Given the description of an element on the screen output the (x, y) to click on. 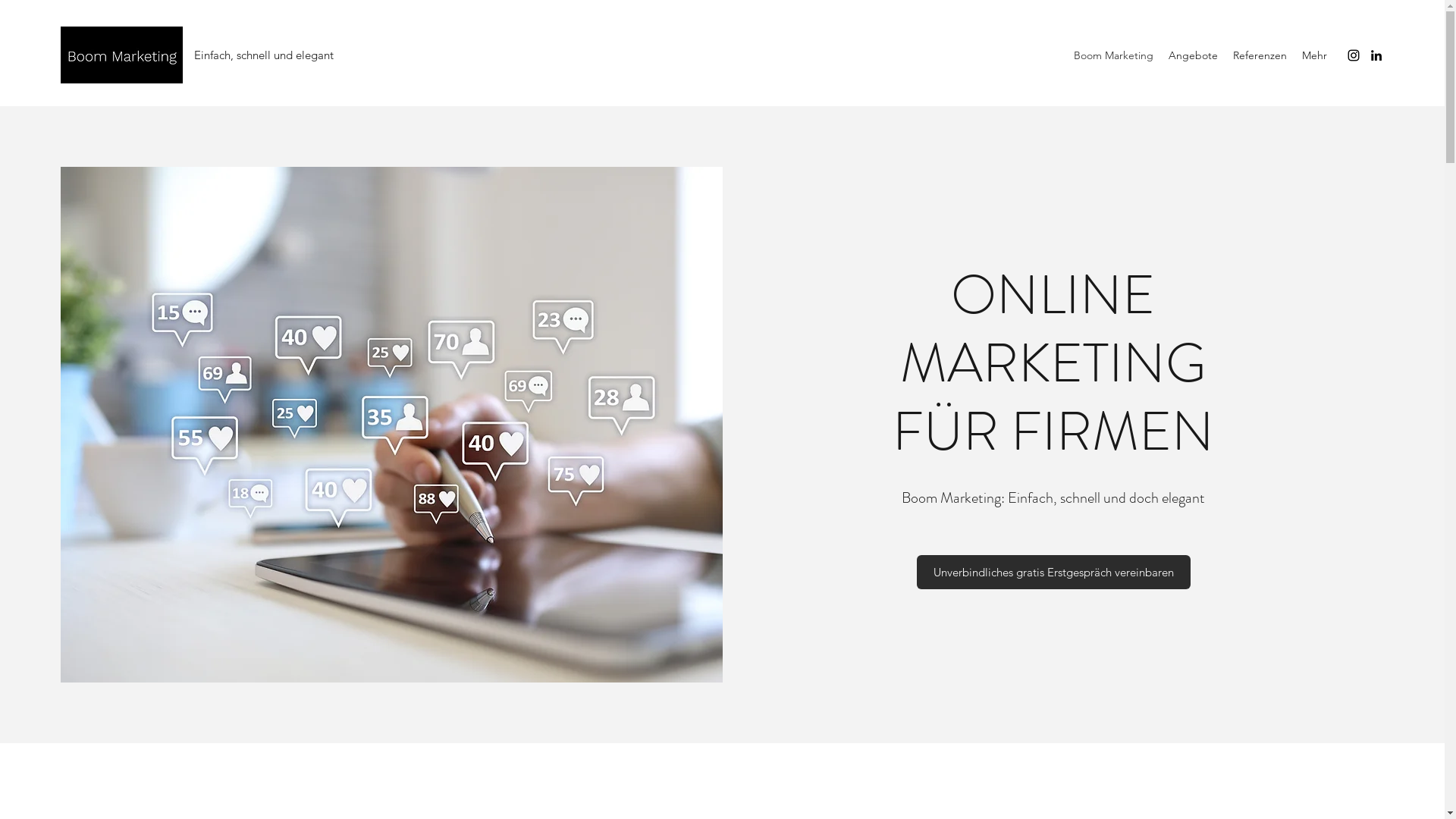
Boom Marketing Element type: text (1113, 54)
Angebote Element type: text (1193, 54)
Referenzen Element type: text (1259, 54)
